Given the description of an element on the screen output the (x, y) to click on. 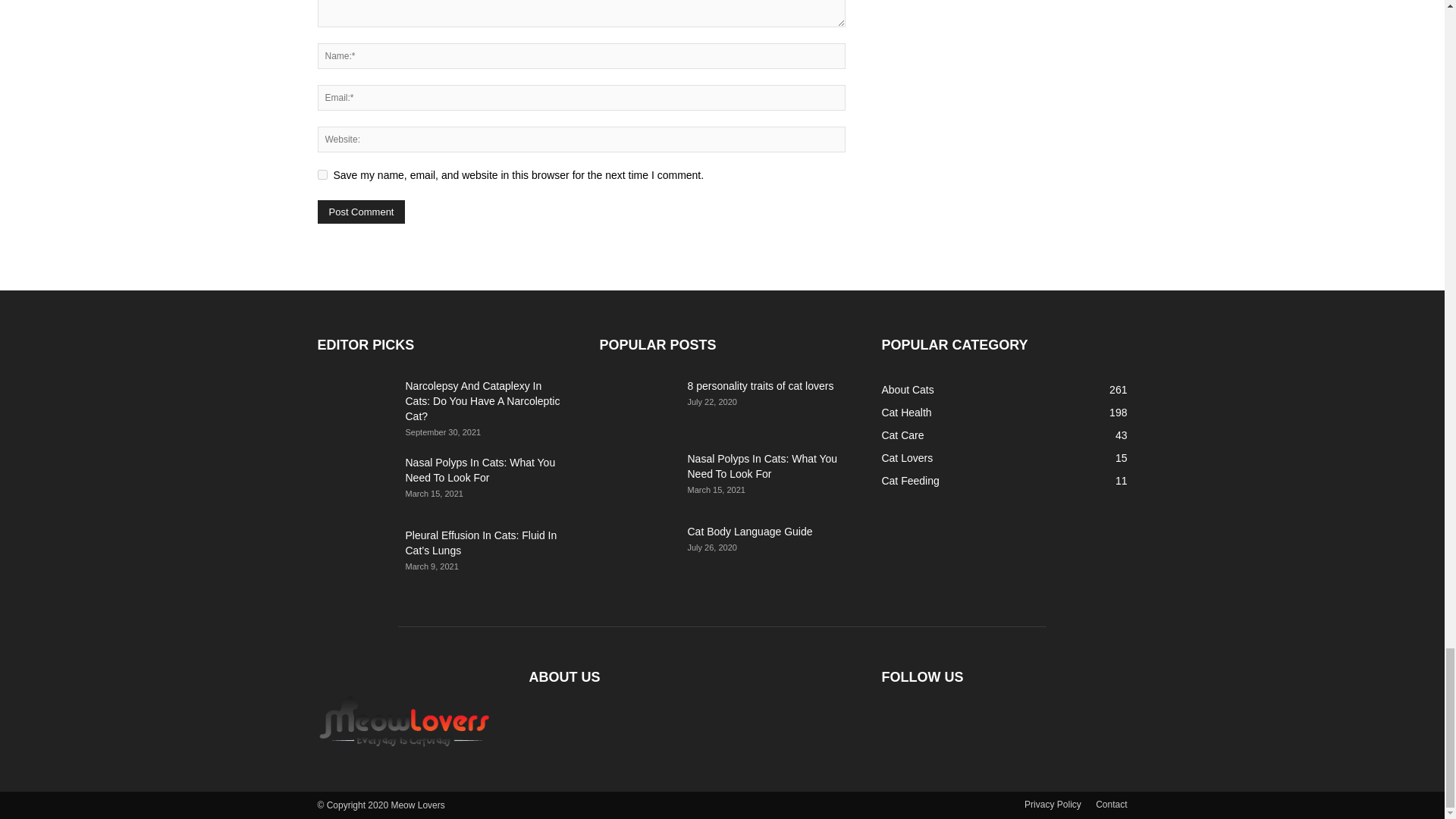
Post Comment (360, 211)
yes (321, 174)
Nasal Polyps In Cats: What You Need To Look For (355, 481)
